Given the description of an element on the screen output the (x, y) to click on. 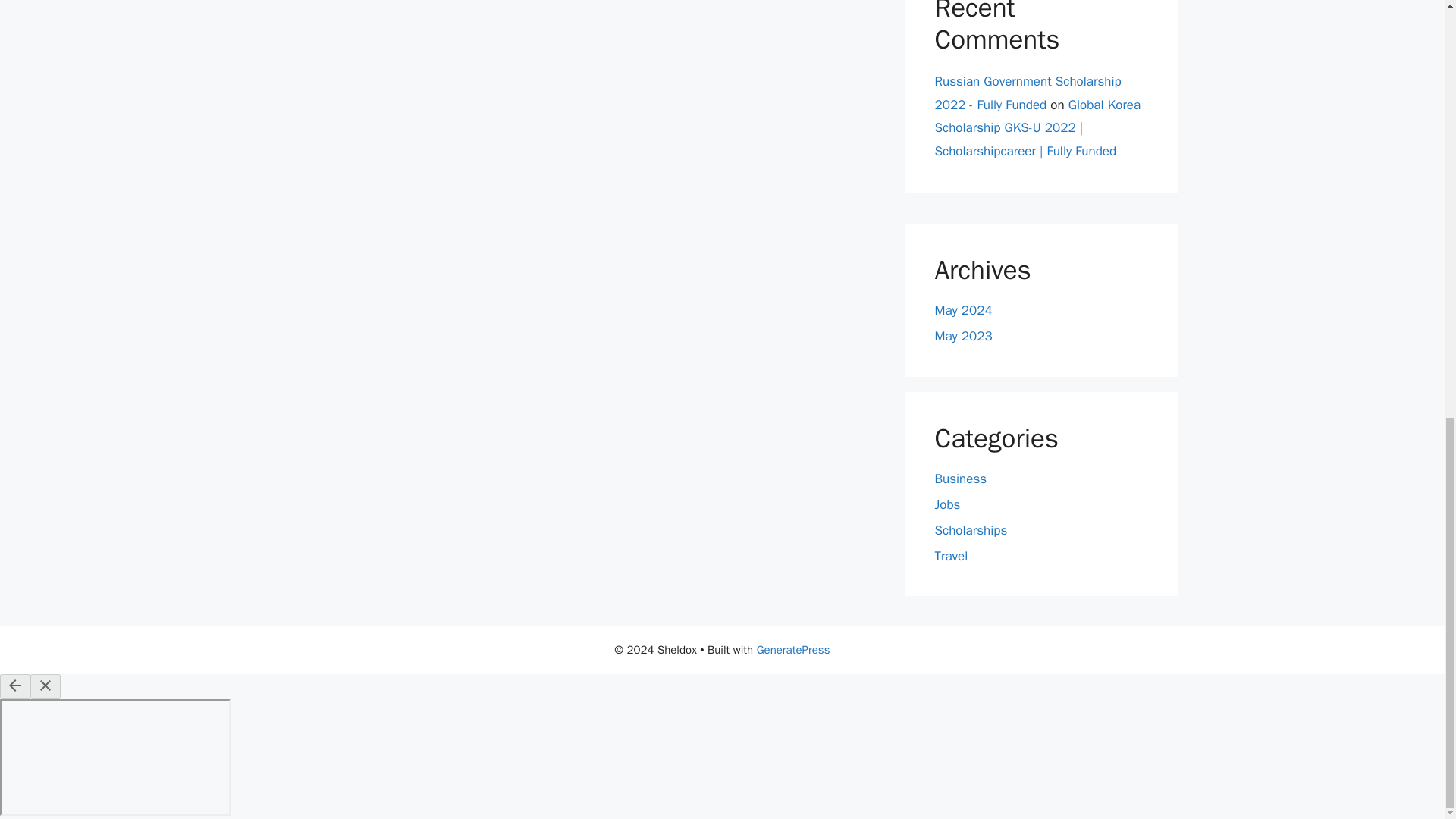
Russian Government Scholarship 2022 - Fully Funded (1027, 93)
Business (960, 478)
Scholarships (970, 530)
Travel (951, 555)
Jobs (946, 504)
May 2024 (962, 310)
May 2023 (962, 335)
GeneratePress (793, 649)
